Given the description of an element on the screen output the (x, y) to click on. 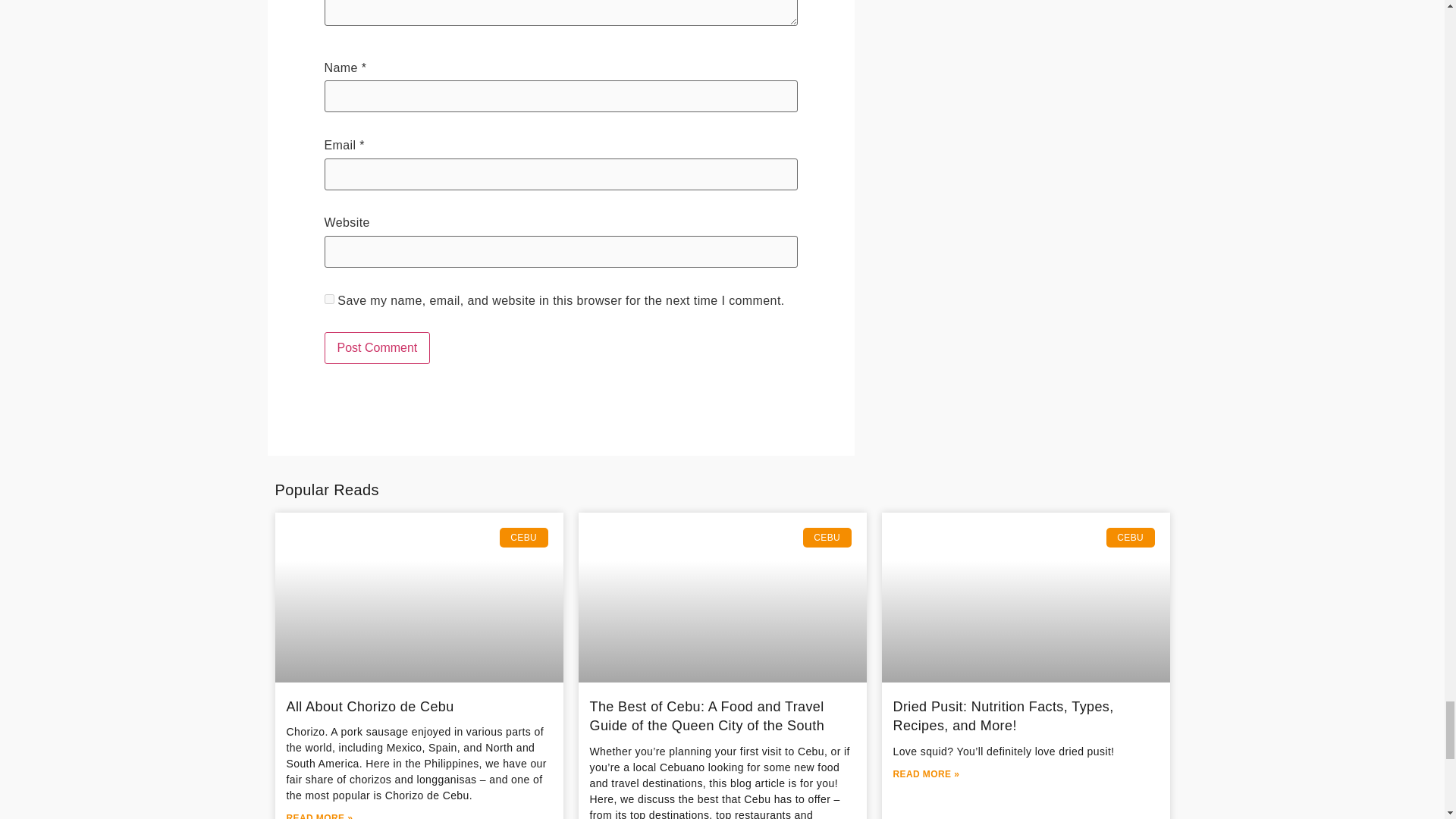
Post Comment (377, 347)
Dried Pusit: Nutrition Facts, Types, Recipes, and More! (1003, 716)
yes (329, 298)
All About Chorizo de Cebu (370, 706)
Post Comment (377, 347)
